Given the description of an element on the screen output the (x, y) to click on. 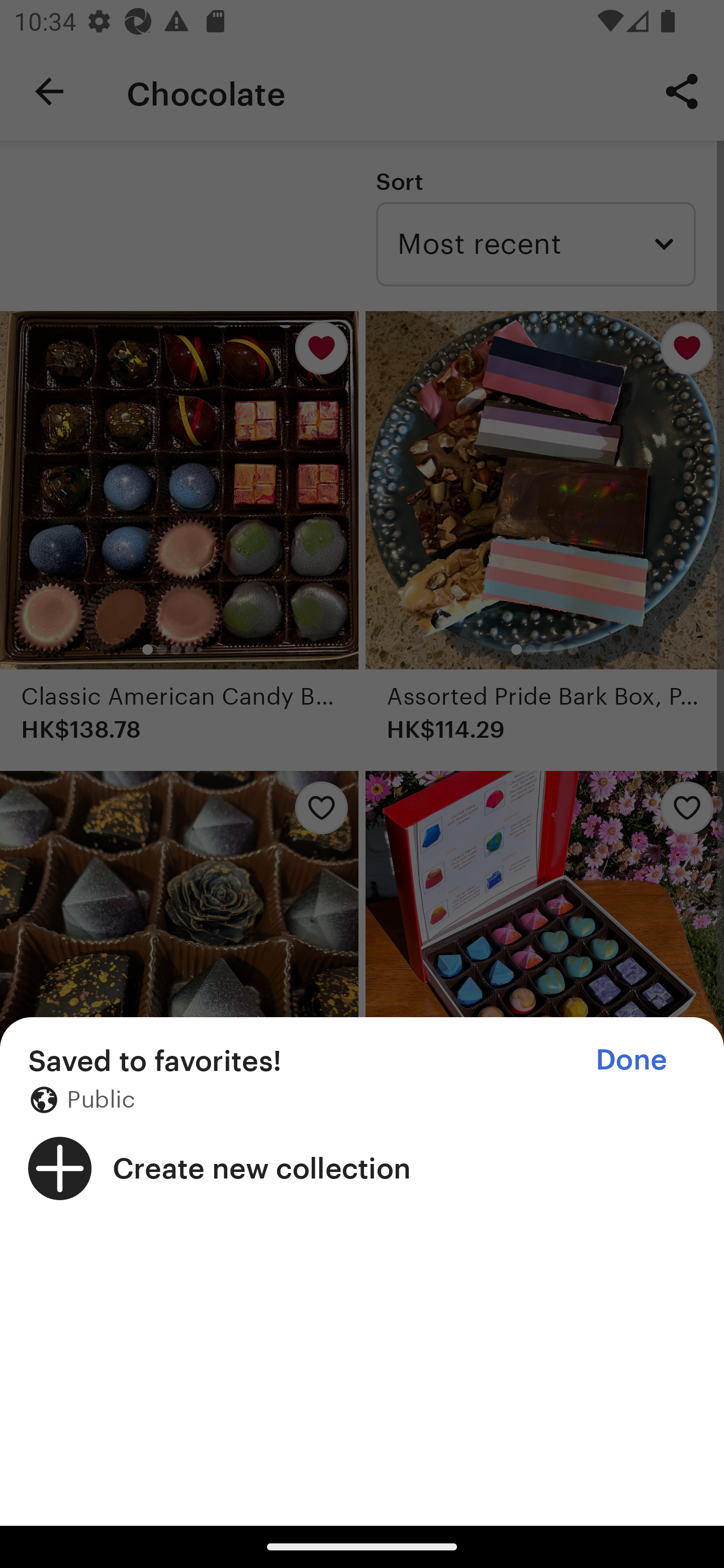
Done (630, 1059)
Create new collection (361, 1167)
